Given the description of an element on the screen output the (x, y) to click on. 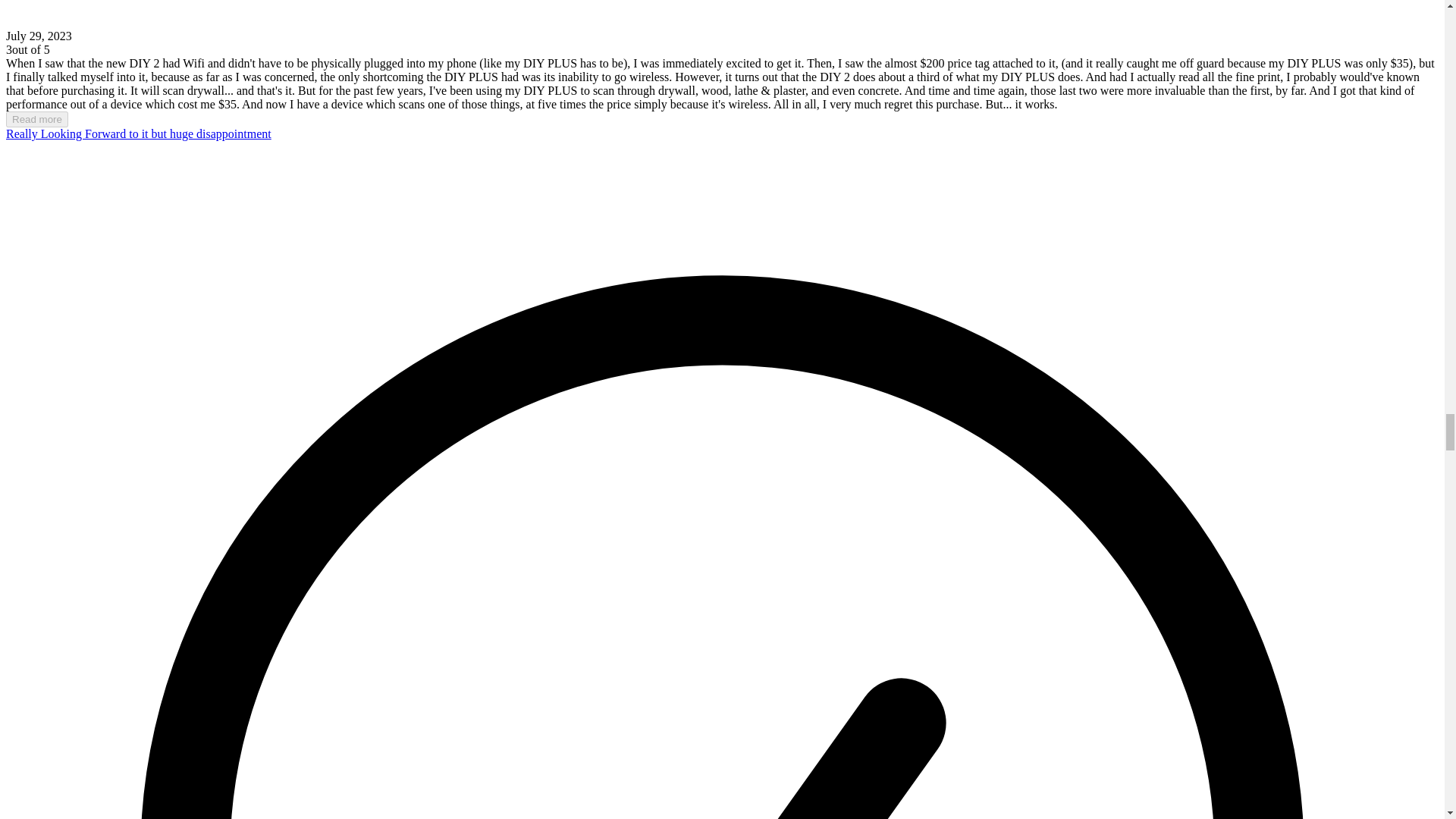
Really Looking Forward to it but huge disappointment (137, 133)
Read more (36, 119)
